Given the description of an element on the screen output the (x, y) to click on. 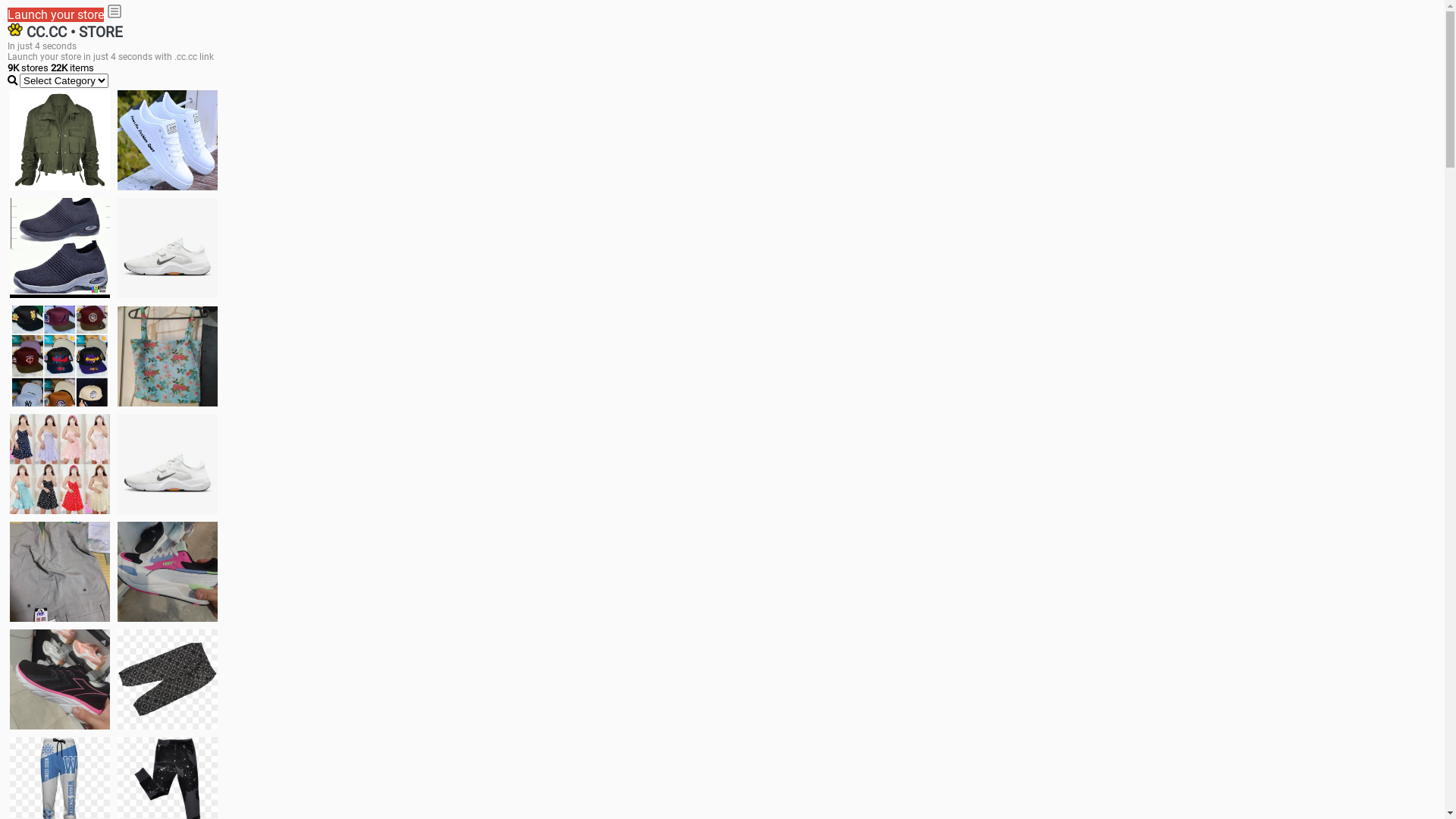
shoes for boys Element type: hover (59, 247)
Short pant Element type: hover (167, 679)
Zapatillas Element type: hover (59, 679)
Zapatillas pumas Element type: hover (167, 571)
jacket Element type: hover (59, 140)
Ukay cloth Element type: hover (167, 356)
Shoes Element type: hover (167, 464)
white shoes Element type: hover (167, 140)
Shoes for boys Element type: hover (167, 247)
Launch your store Element type: text (55, 14)
Things we need Element type: hover (59, 355)
Dress/square nect top Element type: hover (59, 464)
